Given the description of an element on the screen output the (x, y) to click on. 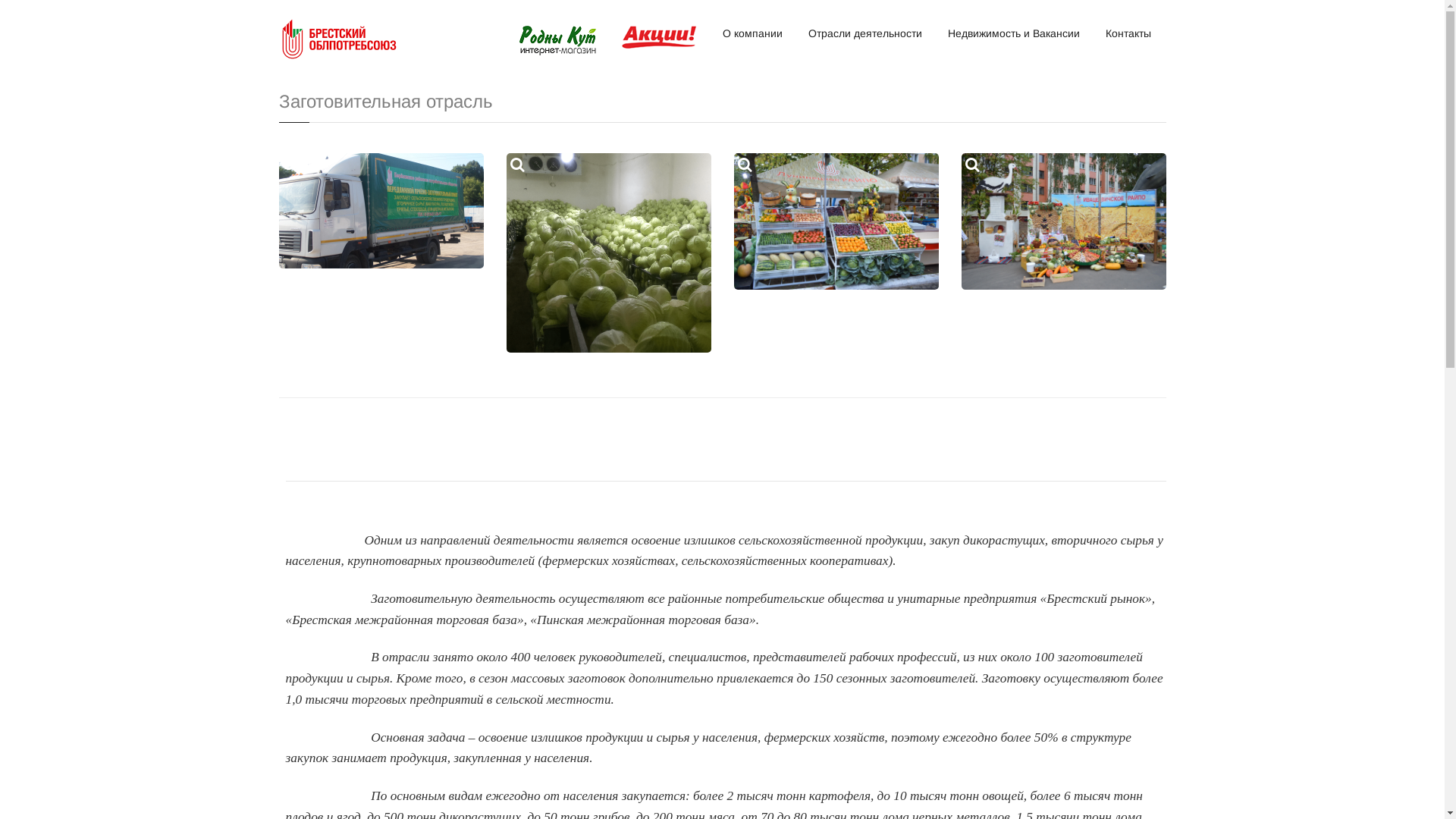
  Element type: text (608, 252)
  Element type: text (1063, 221)
  Element type: text (836, 221)
